Given the description of an element on the screen output the (x, y) to click on. 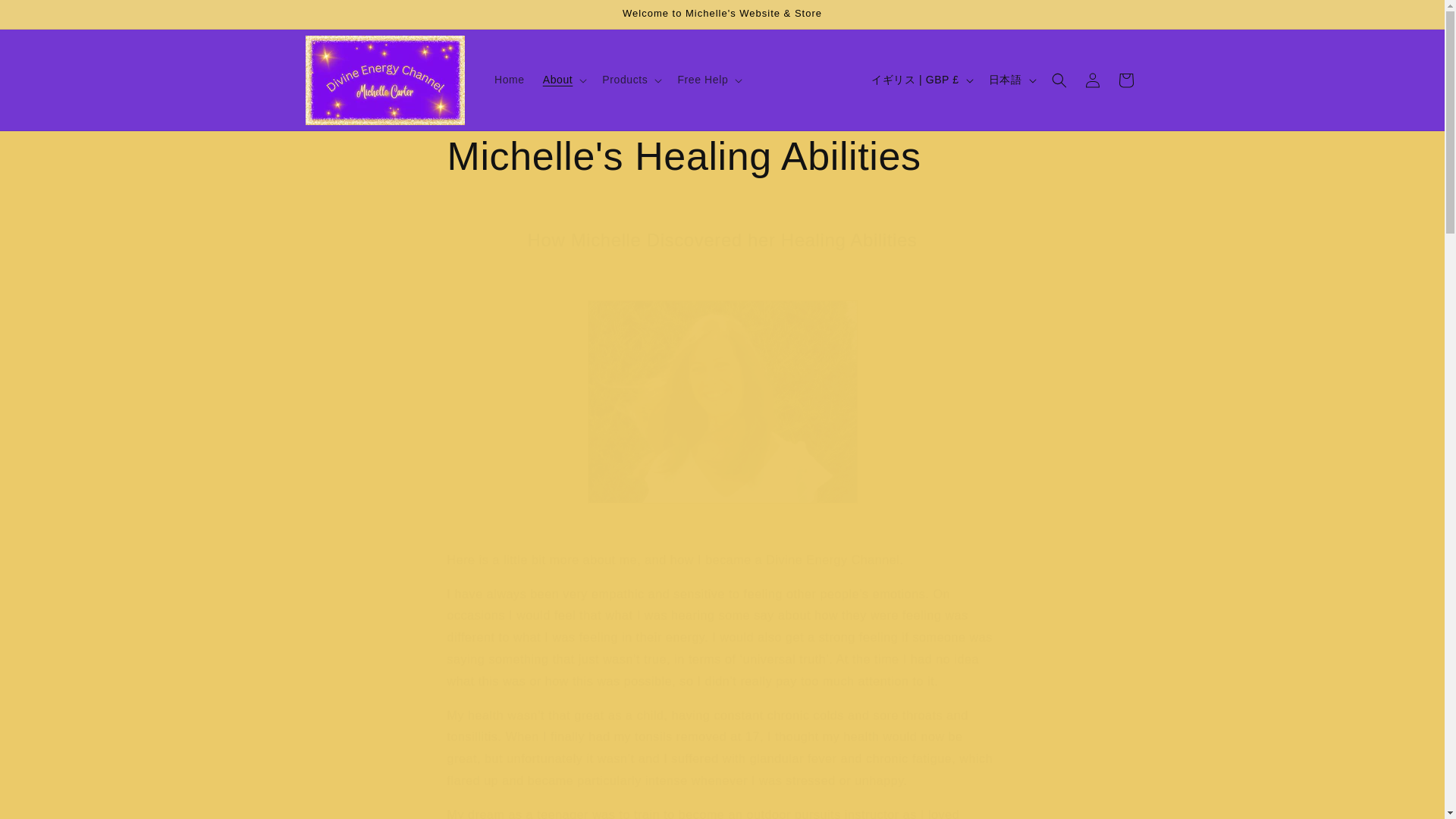
Michelle's Healing Abilities (721, 156)
Home (509, 79)
